Given the description of an element on the screen output the (x, y) to click on. 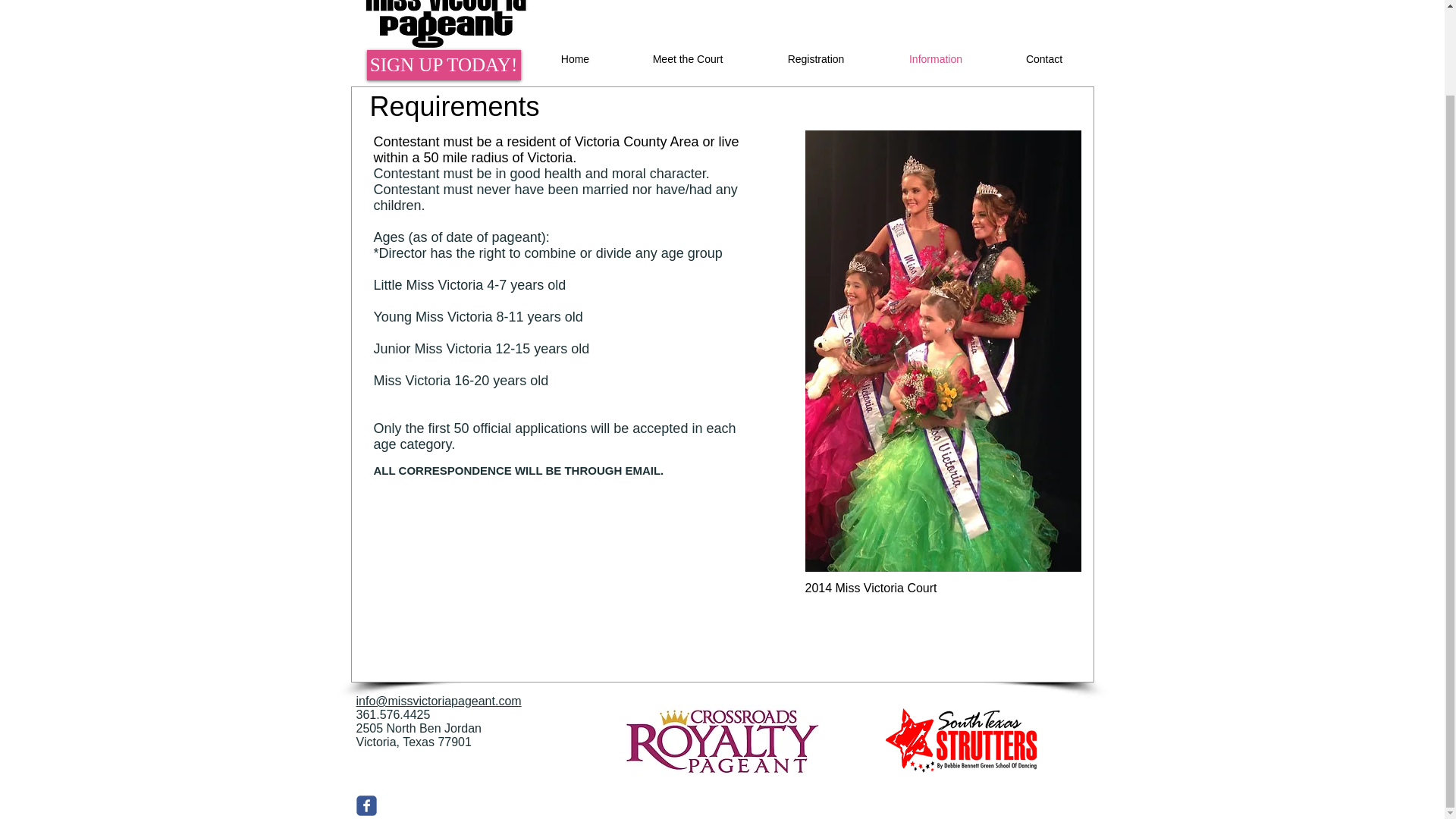
CRP LOGO.jpg (721, 740)
Registration (815, 58)
Information (935, 58)
Contact (1043, 58)
Meet the Court (687, 58)
Home (575, 58)
SIGN UP TODAY! (443, 64)
